Given the description of an element on the screen output the (x, y) to click on. 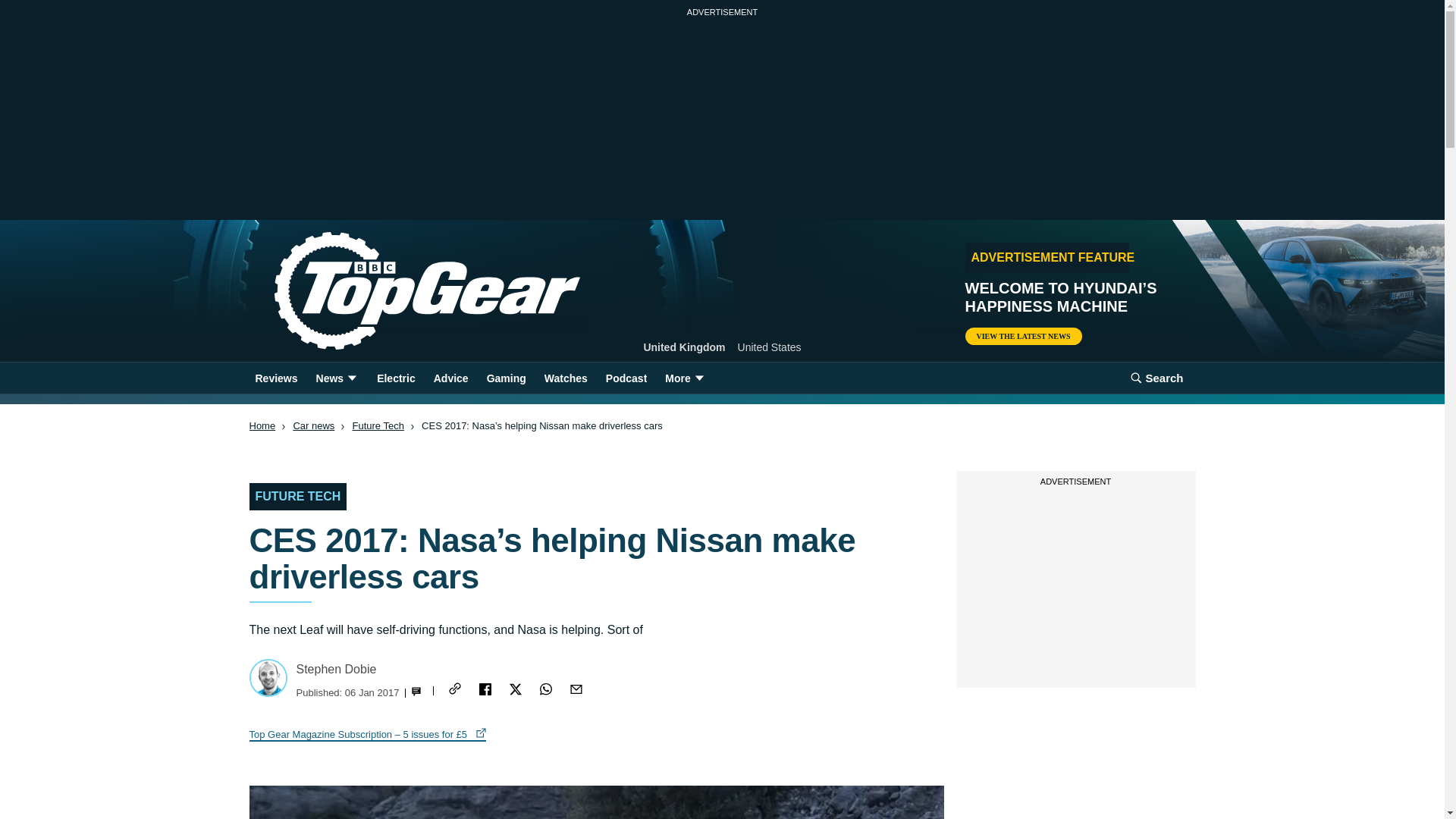
United States (770, 347)
United Kingdom (684, 347)
VIEW THE LATEST NEWS (1022, 335)
Electric (396, 377)
Search (1156, 377)
FUTURE TECH (297, 496)
Search (1156, 377)
News (337, 377)
Reviews (275, 377)
Gaming (506, 377)
Home (401, 290)
More (685, 377)
Stephen Dobie (335, 669)
Future Tech (377, 425)
Advice (451, 377)
